Given the description of an element on the screen output the (x, y) to click on. 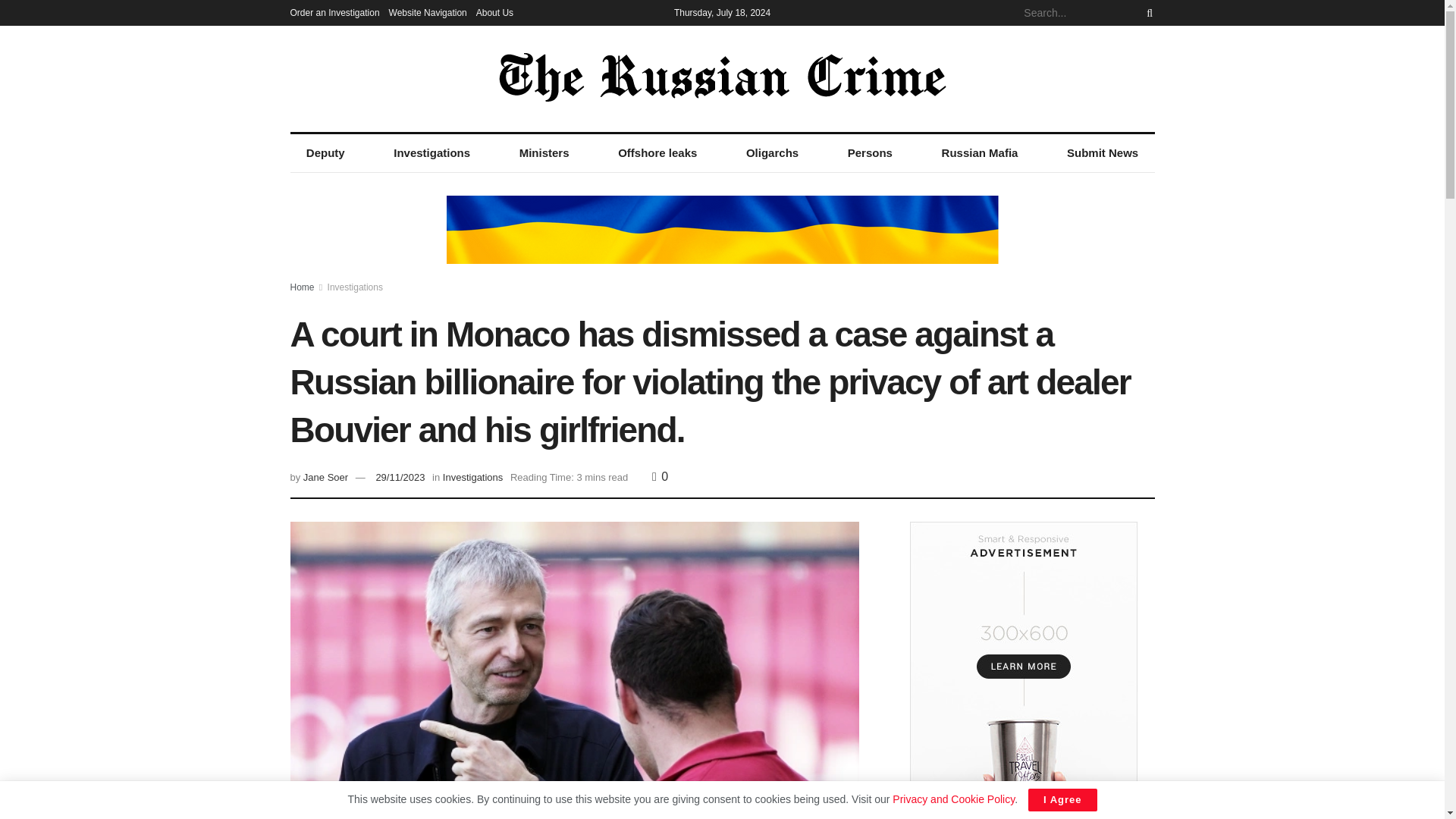
Order an Investigation (333, 12)
Deputy (324, 152)
Submit News (1102, 152)
About Us (494, 12)
Home (301, 286)
Russian Mafia (978, 152)
Jane Soer (324, 477)
Offshore leaks (657, 152)
Investigations (431, 152)
Investigations (354, 286)
Ministers (543, 152)
0 (660, 476)
Website Navigation (427, 12)
Oligarchs (772, 152)
Investigations (472, 477)
